Given the description of an element on the screen output the (x, y) to click on. 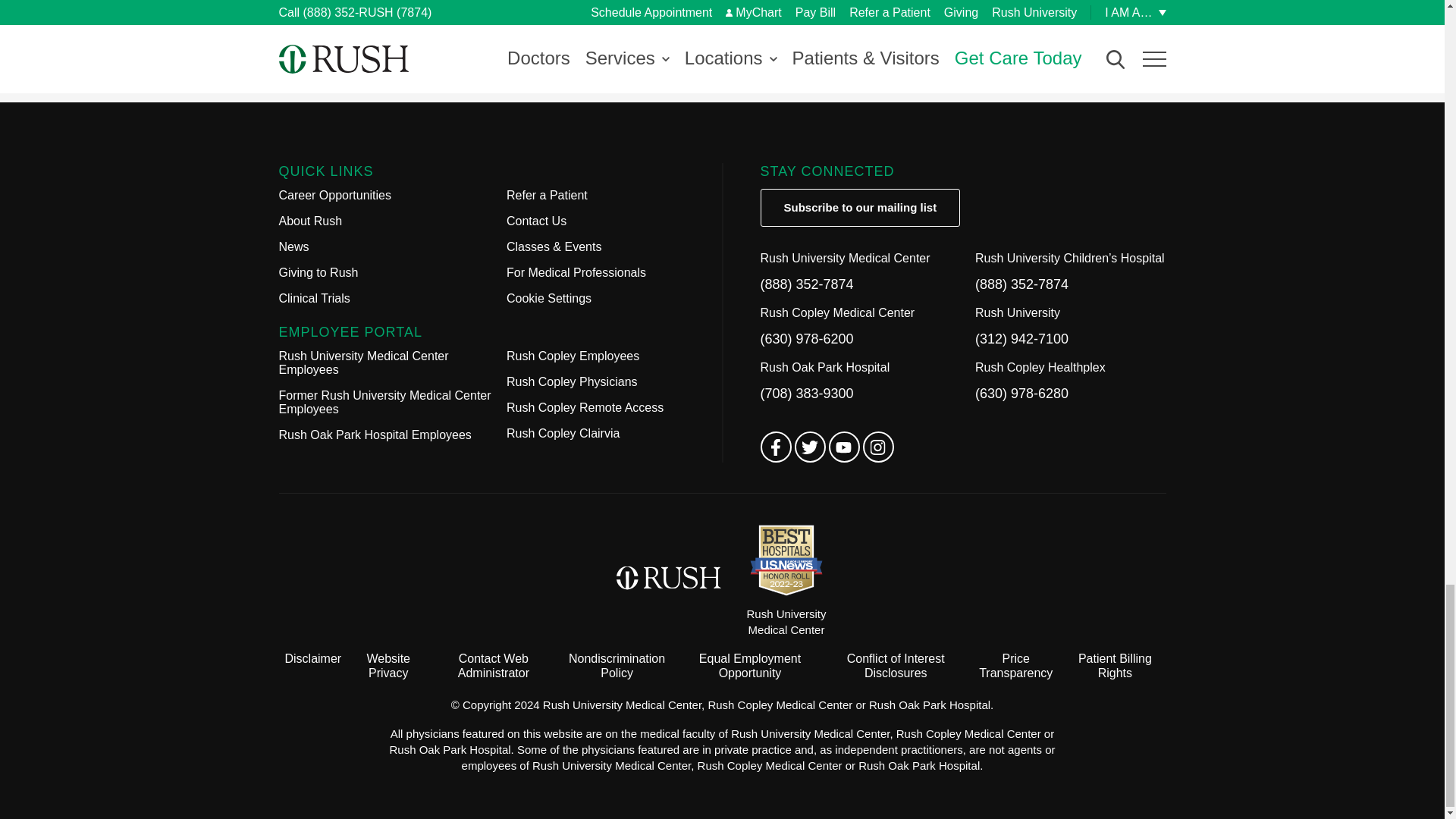
Rush is an equal opportunity employer.  (749, 665)
